Given the description of an element on the screen output the (x, y) to click on. 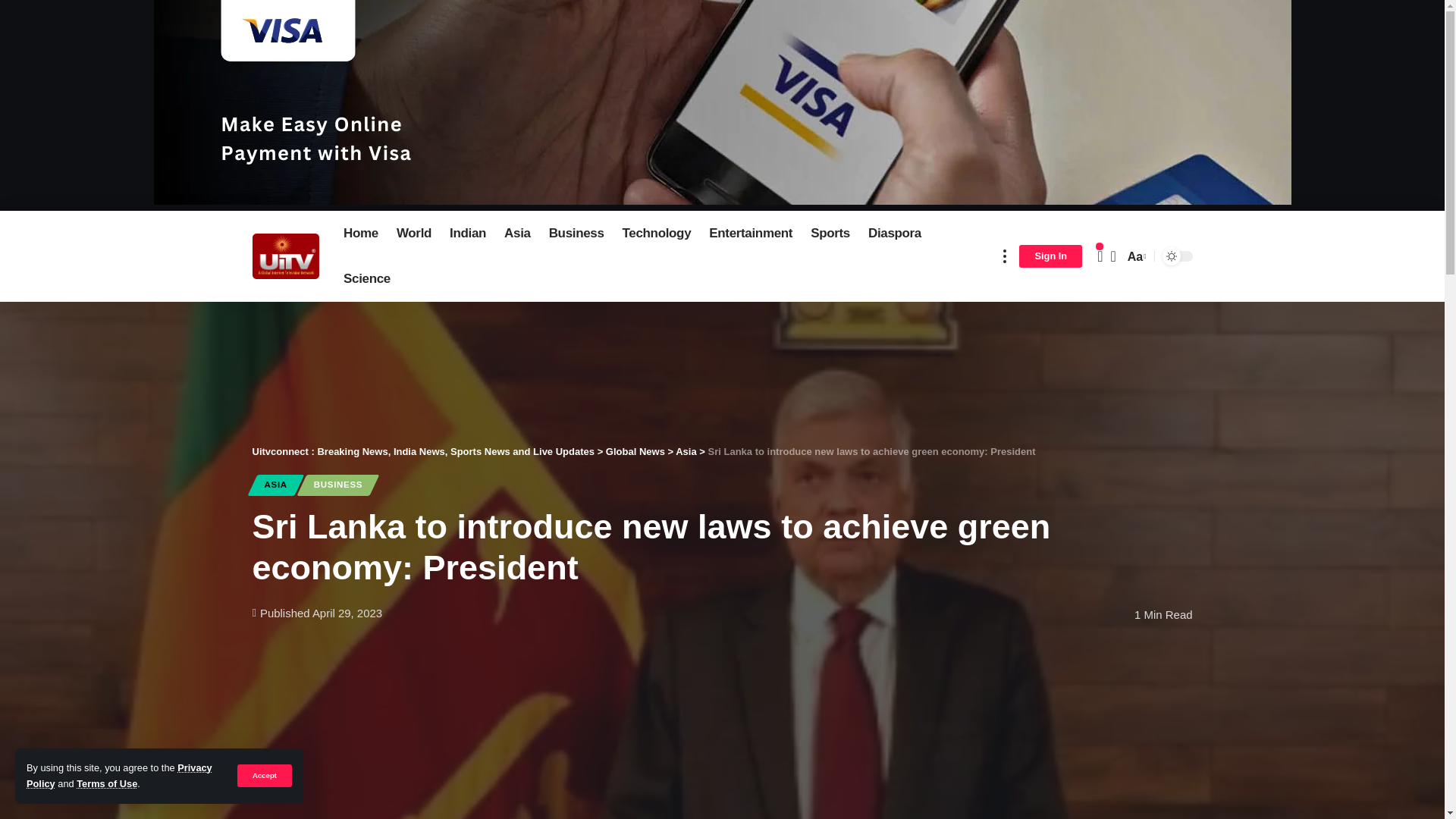
Business (576, 233)
World (414, 233)
Accept (264, 775)
Home (360, 233)
Science (366, 279)
Asia (517, 233)
Privacy Policy (119, 775)
Indian (468, 233)
Diaspora (894, 233)
Terms of Use (106, 783)
Go to the Asia Category archives. (685, 451)
Entertainment (751, 233)
Technology (656, 233)
